Given the description of an element on the screen output the (x, y) to click on. 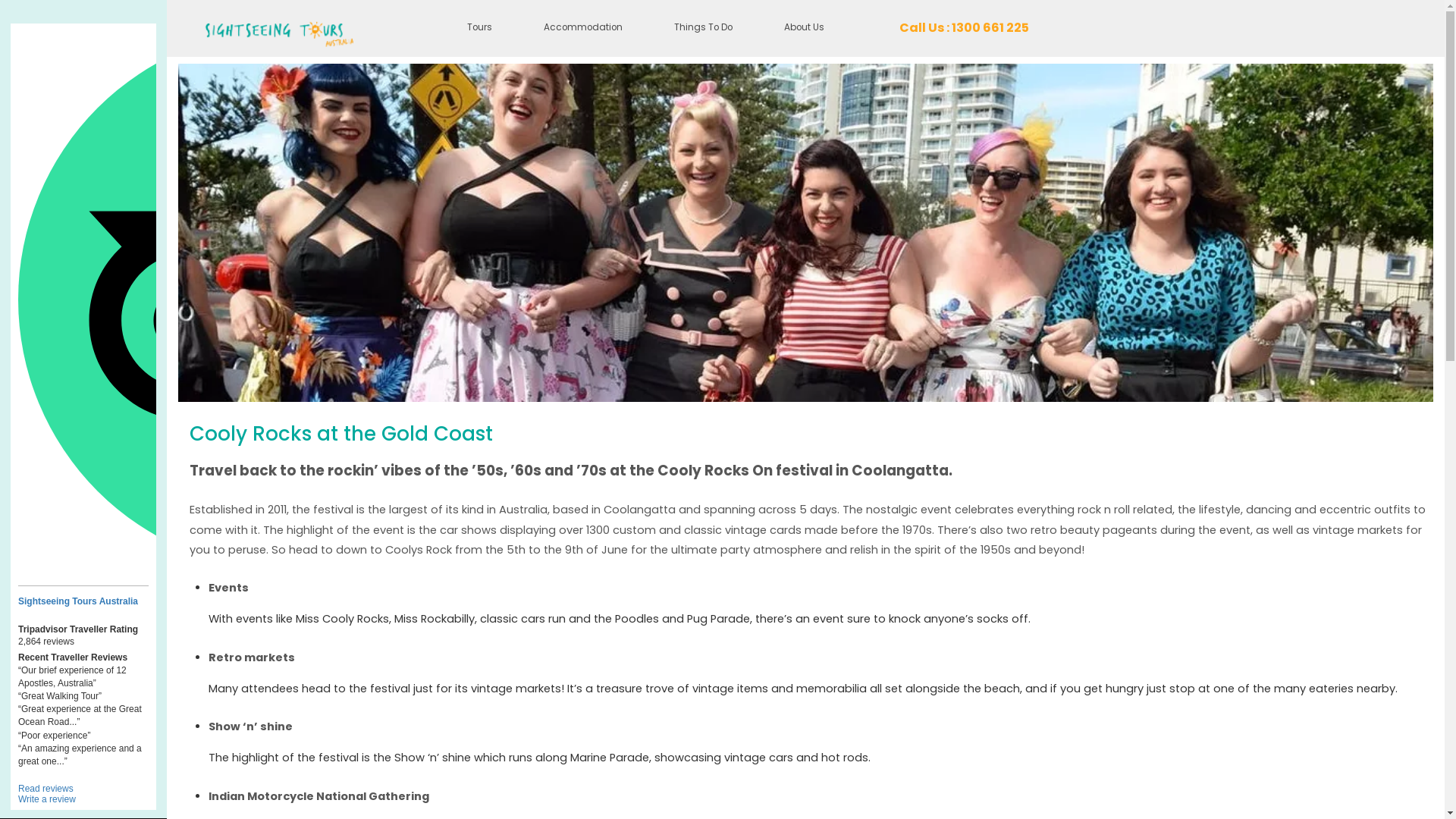
Accommodation Element type: text (582, 28)
Read reviews Element type: text (45, 788)
About Us Element type: text (804, 28)
Write a review Element type: text (46, 798)
Sightseeing Tours Australia Element type: text (83, 600)
Call Us : 1300 661 225 Element type: text (963, 28)
Things To Do Element type: text (703, 28)
Tours Element type: text (479, 28)
